Given the description of an element on the screen output the (x, y) to click on. 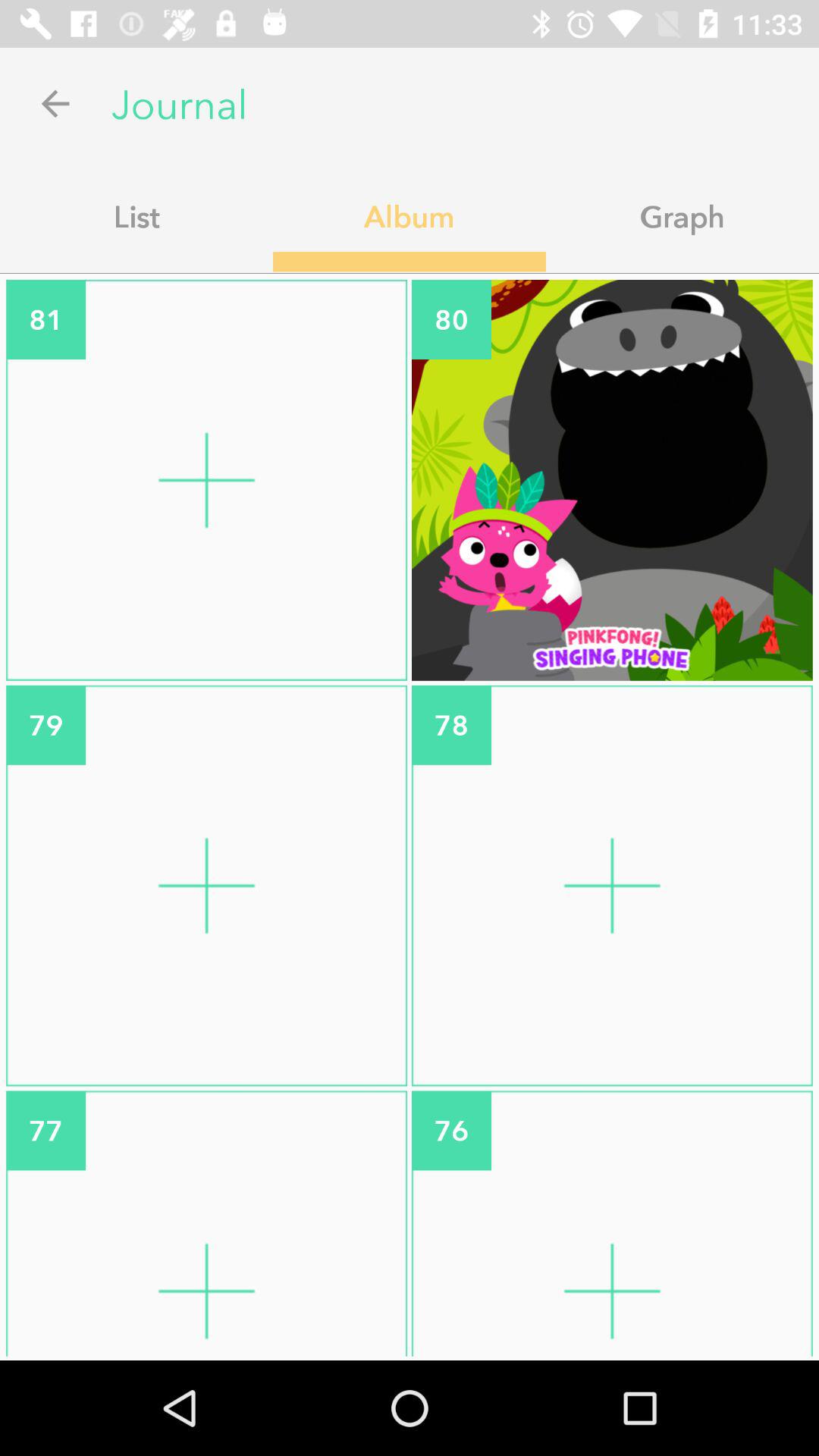
flip until the list item (136, 216)
